Given the description of an element on the screen output the (x, y) to click on. 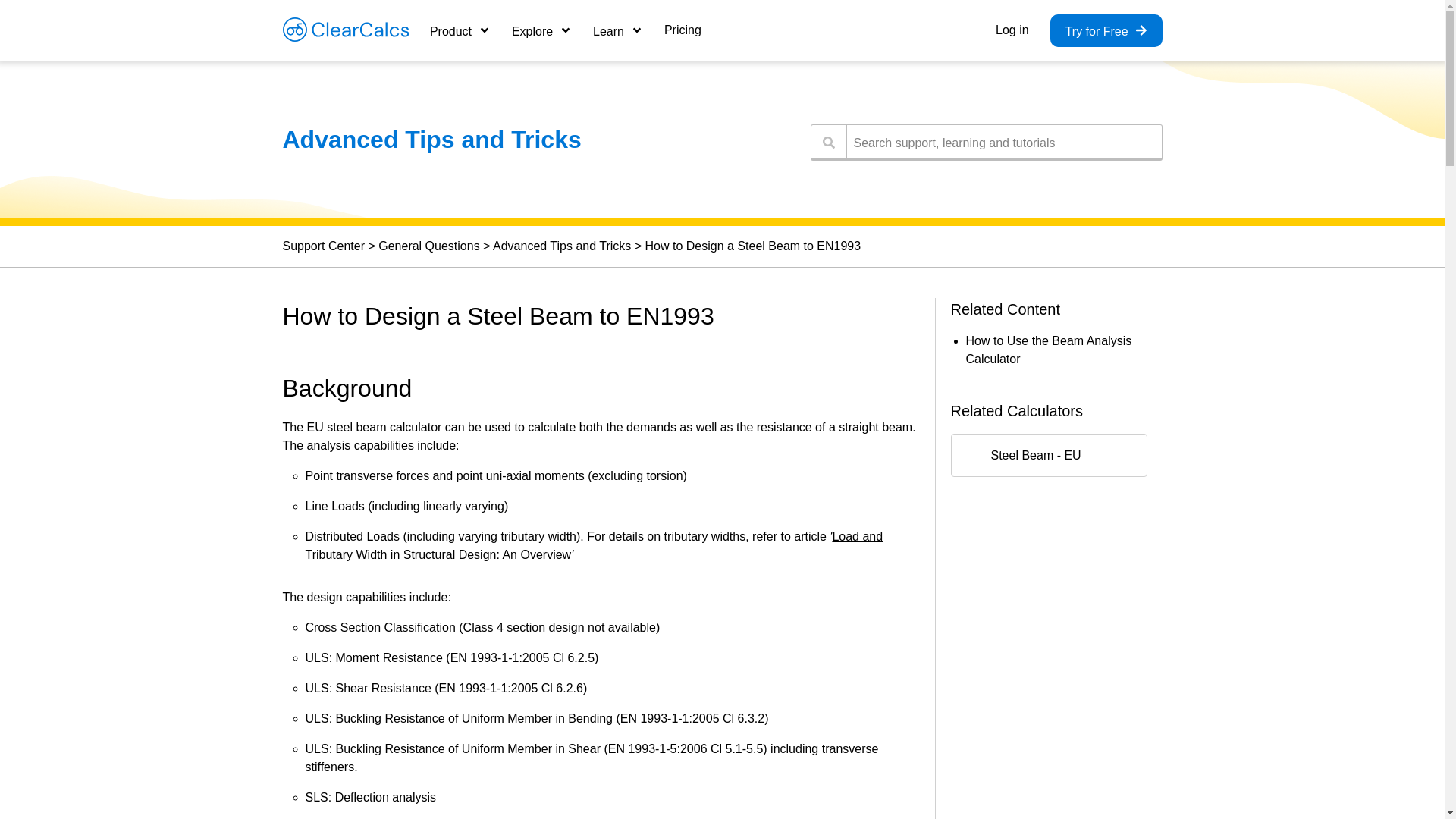
Steel Beam - EU (1048, 455)
Log in (1012, 30)
Load and Tributary Width in Structural Design: An Overview (593, 545)
Product   (459, 30)
General Questions (428, 245)
Pricing (682, 30)
How to Design a Steel Beam to EN1993 (753, 245)
How to Use the Beam Analysis Calculator (1049, 349)
Explore   (542, 30)
Support Center (323, 245)
